Given the description of an element on the screen output the (x, y) to click on. 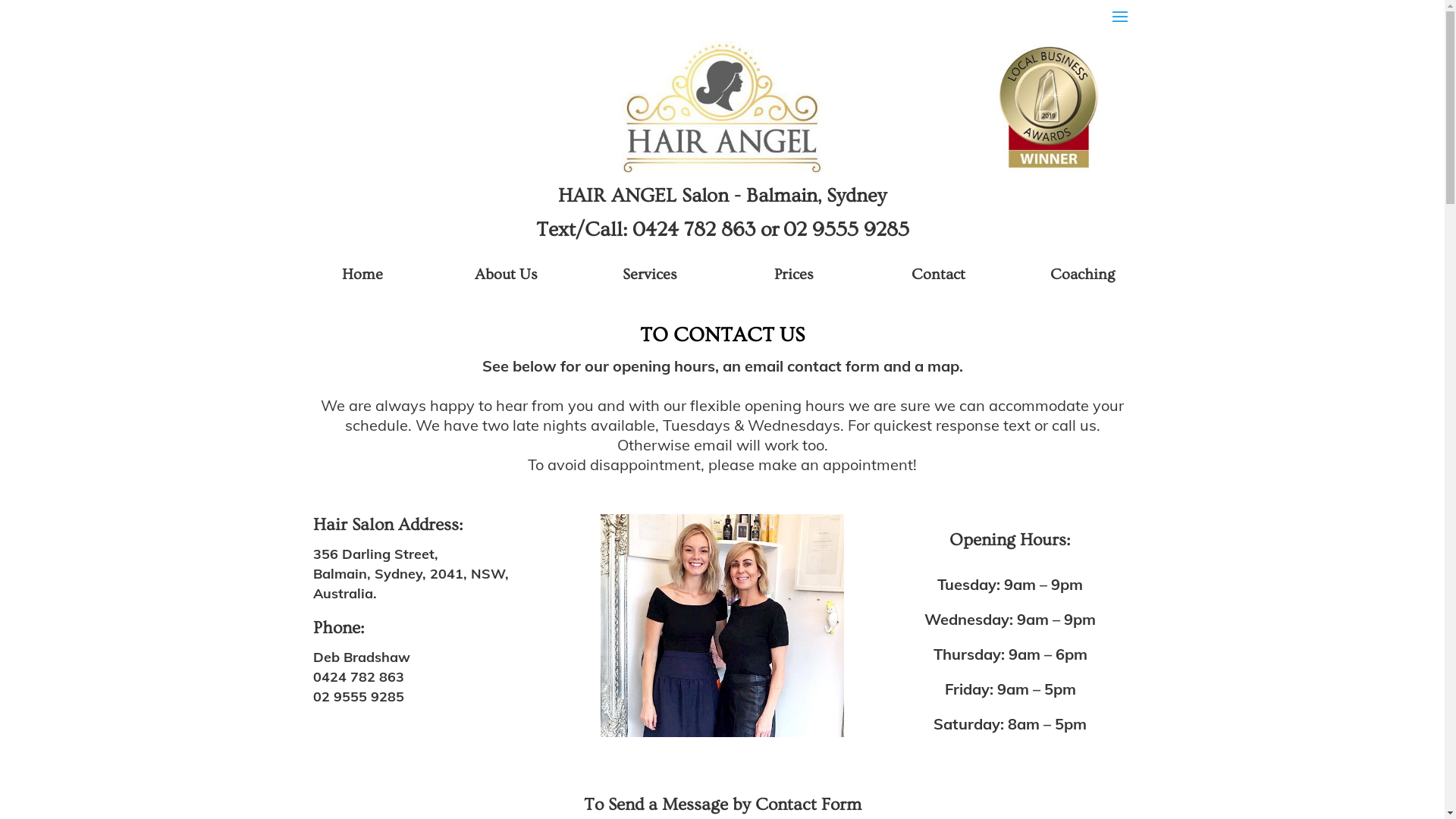
Prices Element type: text (793, 274)
Coaching Element type: text (1082, 274)
Contact Element type: text (938, 274)
Services Element type: text (649, 274)
About Us Element type: text (505, 274)
Home Element type: text (362, 274)
